Given the description of an element on the screen output the (x, y) to click on. 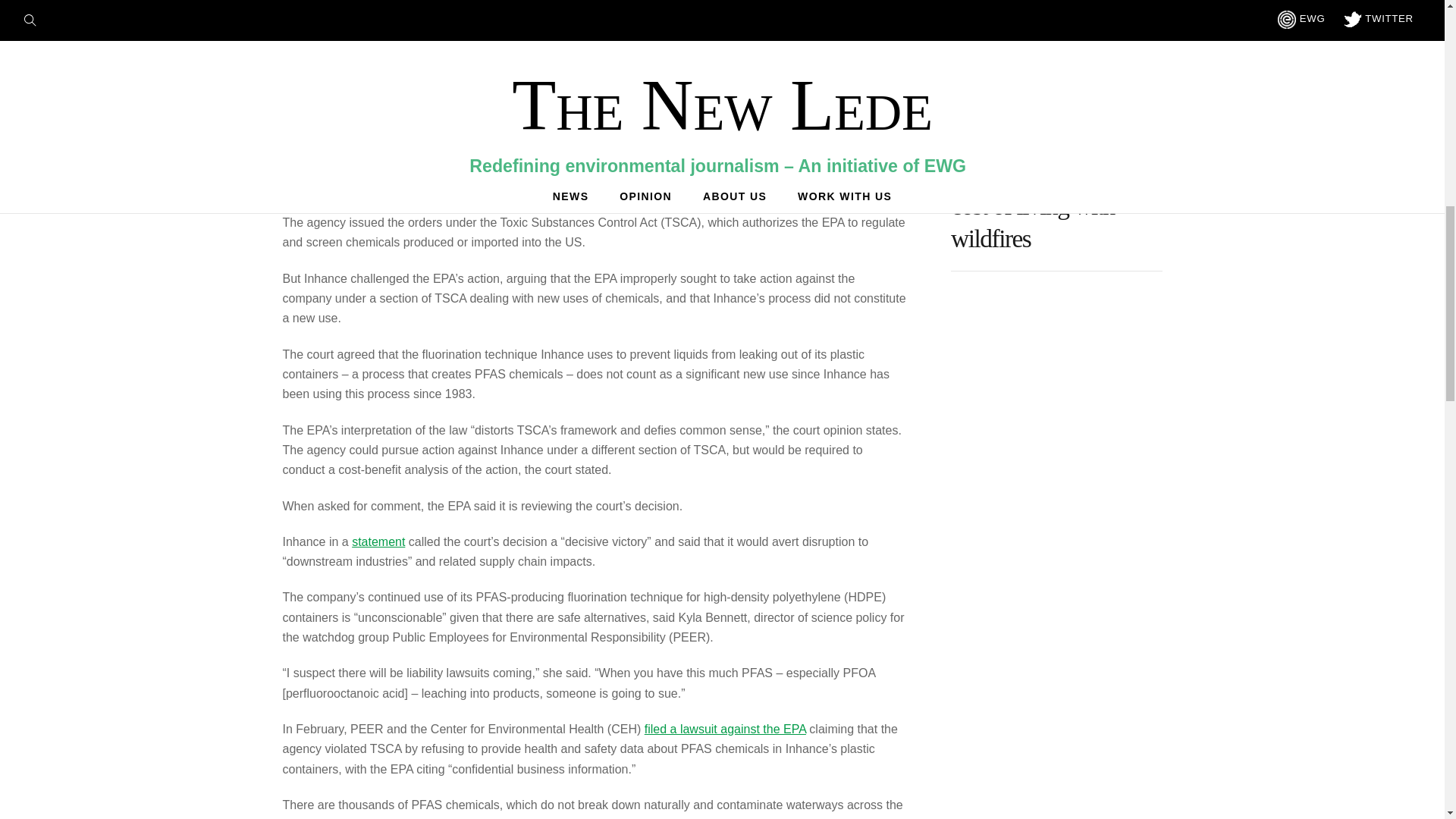
issued orders (588, 101)
statement (378, 541)
ruled (561, 91)
filed a lawsuit against the EPA (725, 728)
